Given the description of an element on the screen output the (x, y) to click on. 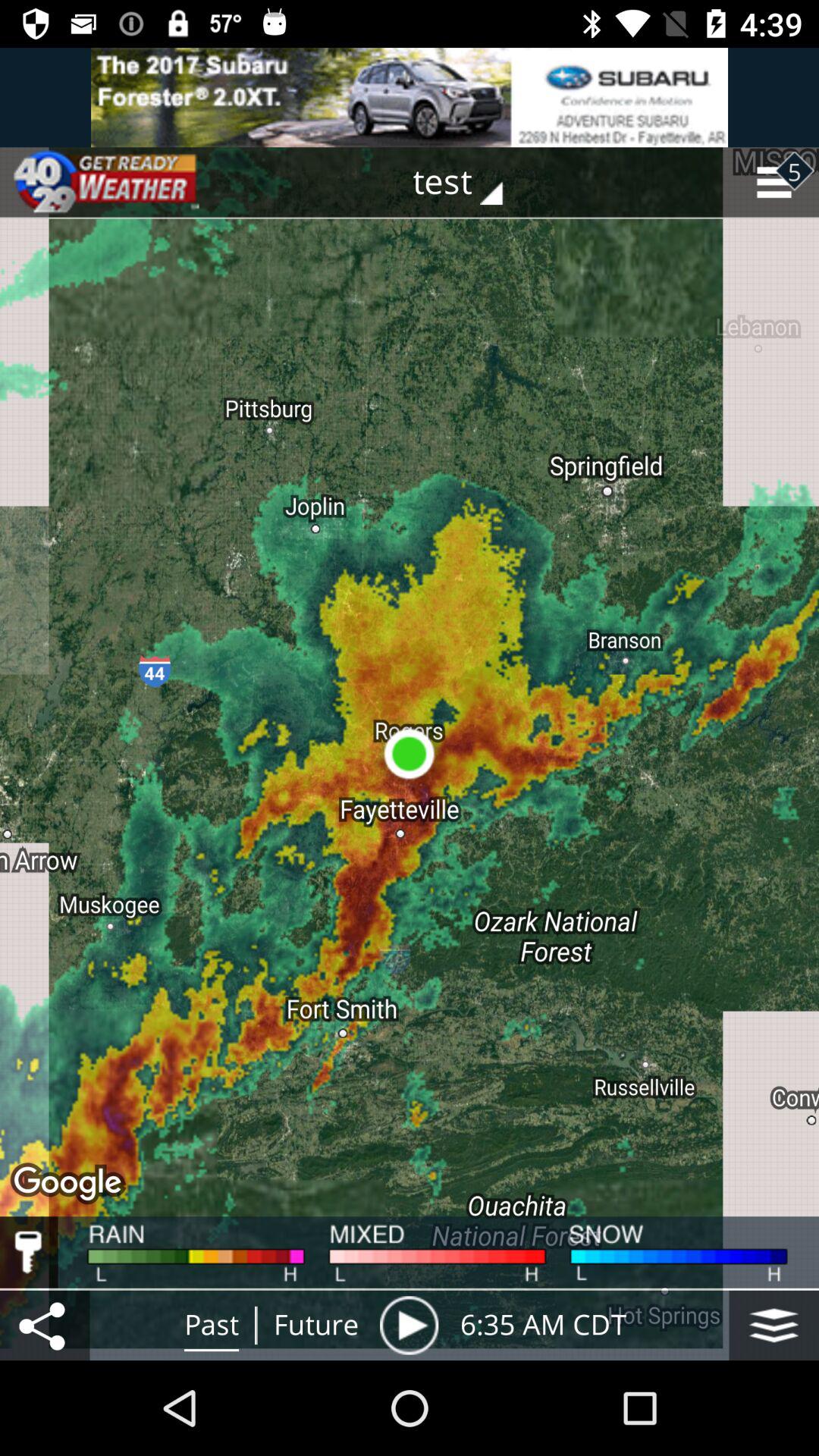
see future maps (409, 1325)
